Given the description of an element on the screen output the (x, y) to click on. 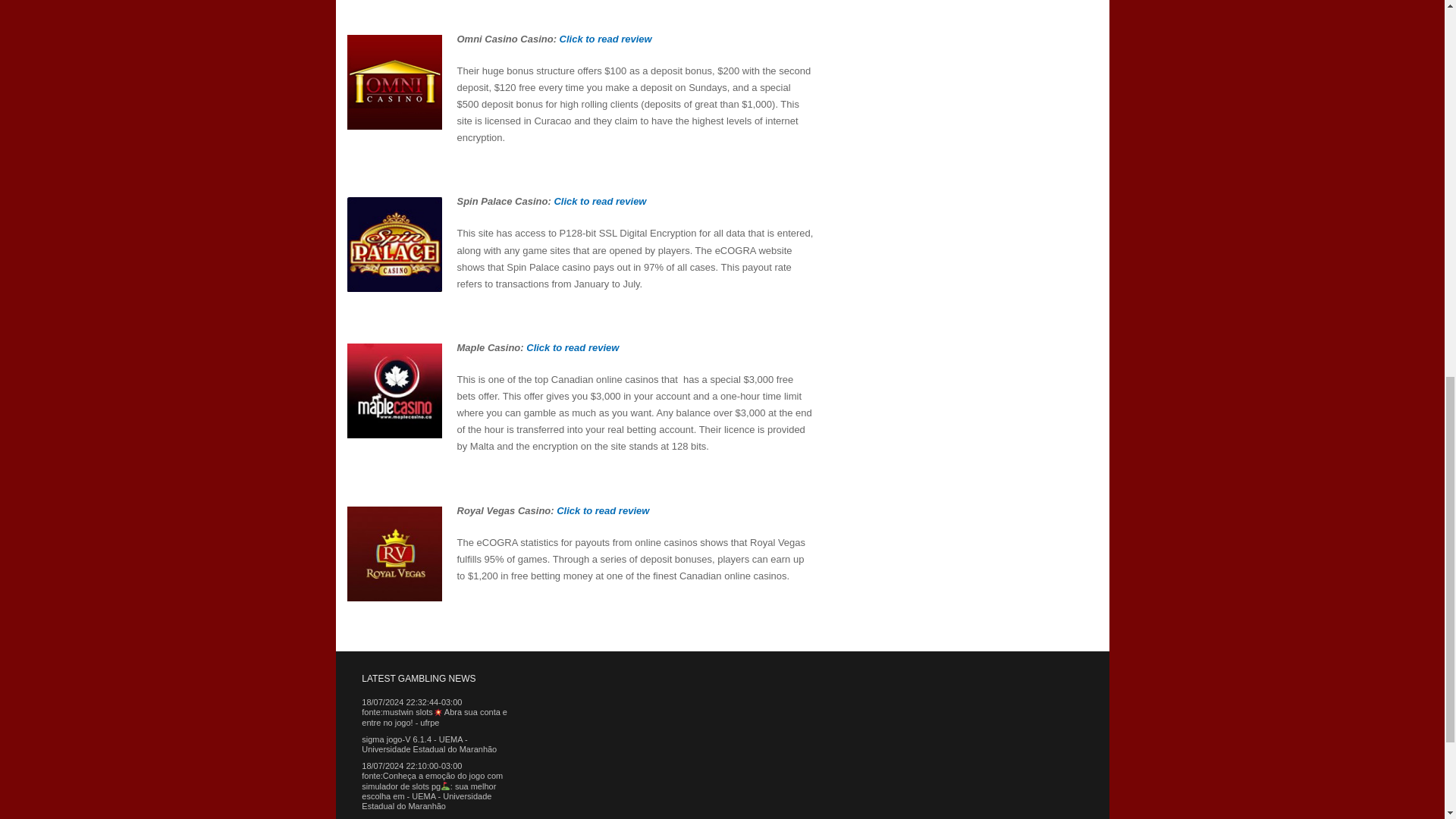
Click to read review (599, 201)
Click to read review (605, 39)
Click to read review (602, 510)
Click to read review (571, 347)
